Given the description of an element on the screen output the (x, y) to click on. 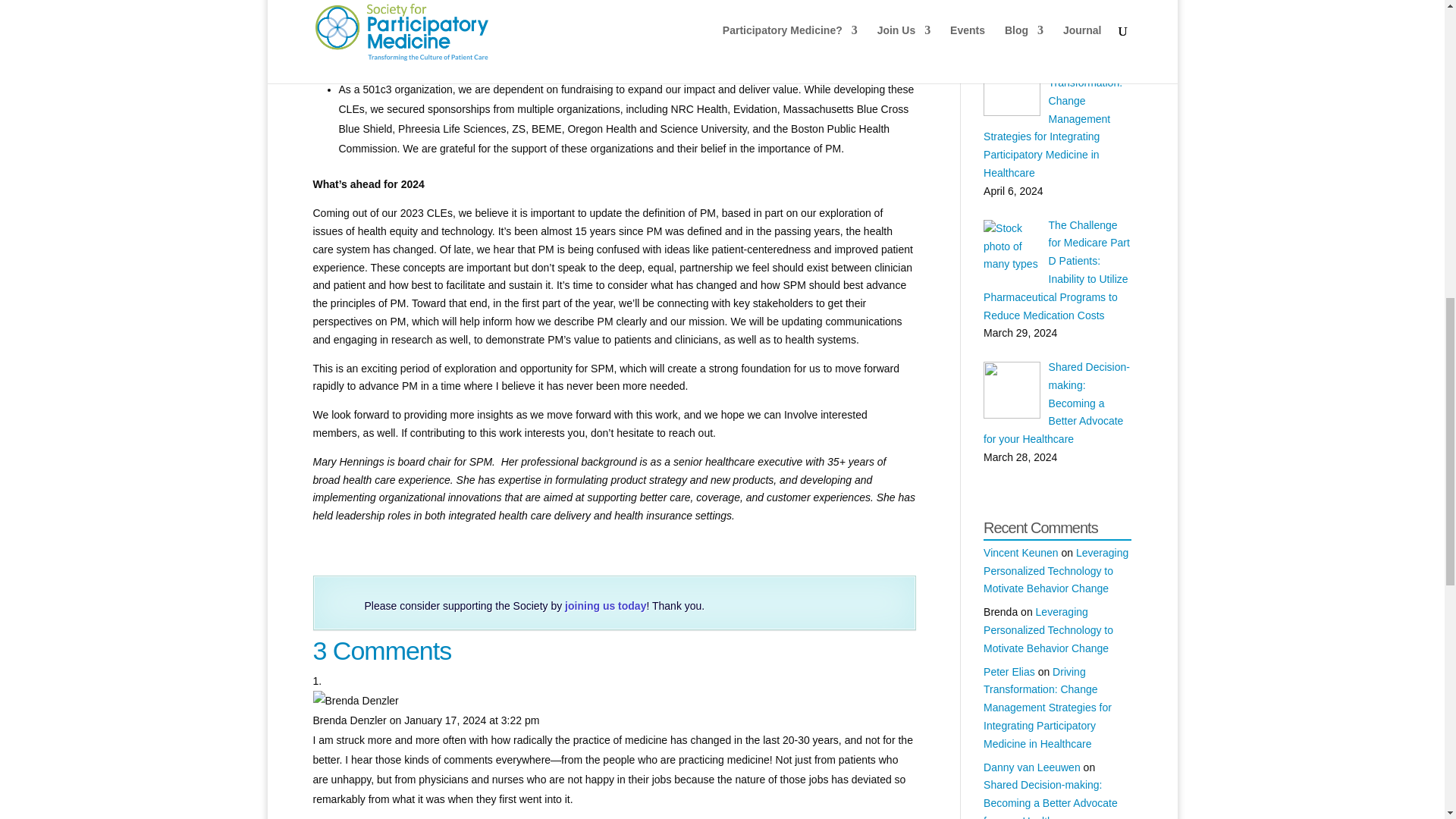
joining us today (605, 605)
Vincent Keunen (1021, 552)
Danny van Leeuwen (1032, 767)
Peter Elias (1009, 671)
